Given the description of an element on the screen output the (x, y) to click on. 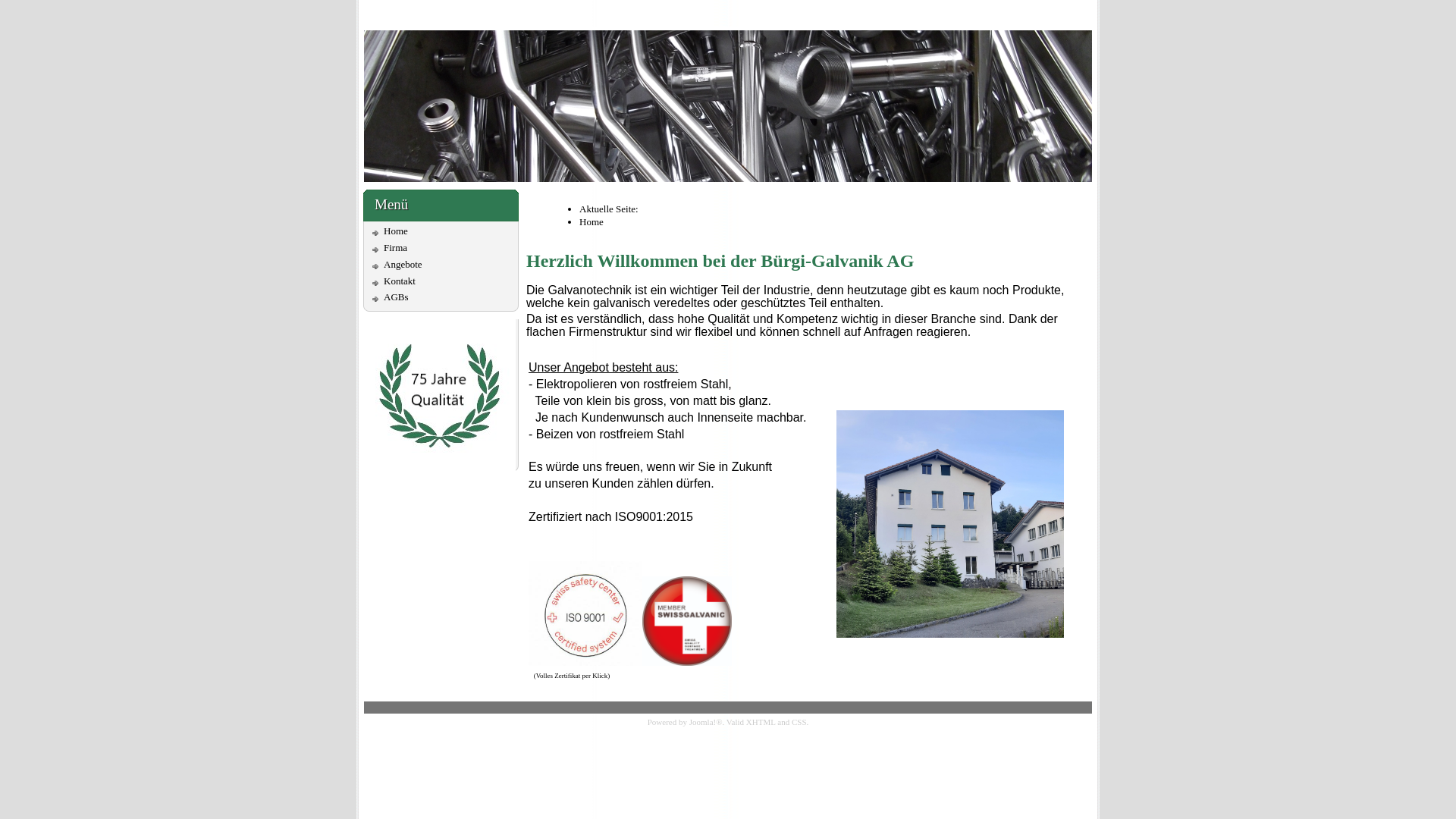
Angebote Element type: text (402, 263)
XHTML Element type: text (760, 721)
Home Element type: text (395, 230)
CSS Element type: text (798, 721)
AGBs Element type: text (395, 296)
Firma Element type: text (395, 247)
Kontakt Element type: text (399, 280)
Firmengebaeude Element type: hover (949, 523)
